Given the description of an element on the screen output the (x, y) to click on. 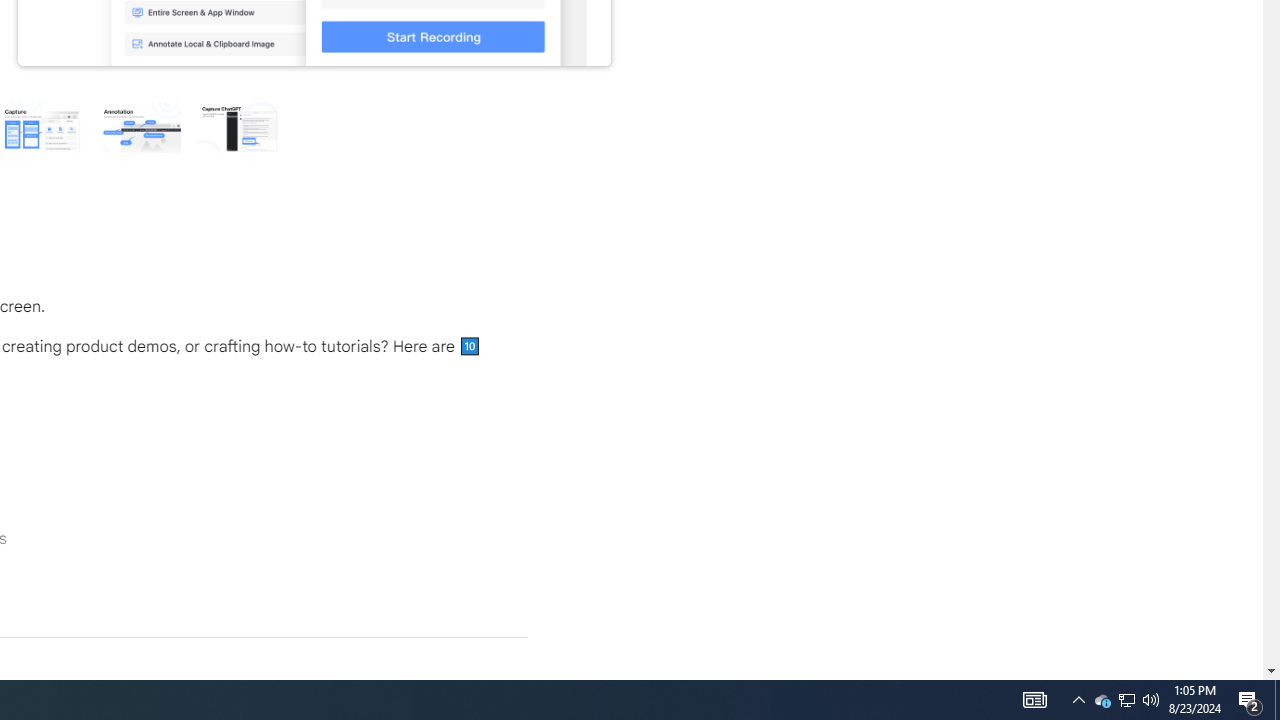
Preview slide 5 (139, 126)
Preview slide 6 (238, 126)
Preview slide 4 (40, 126)
